Given the description of an element on the screen output the (x, y) to click on. 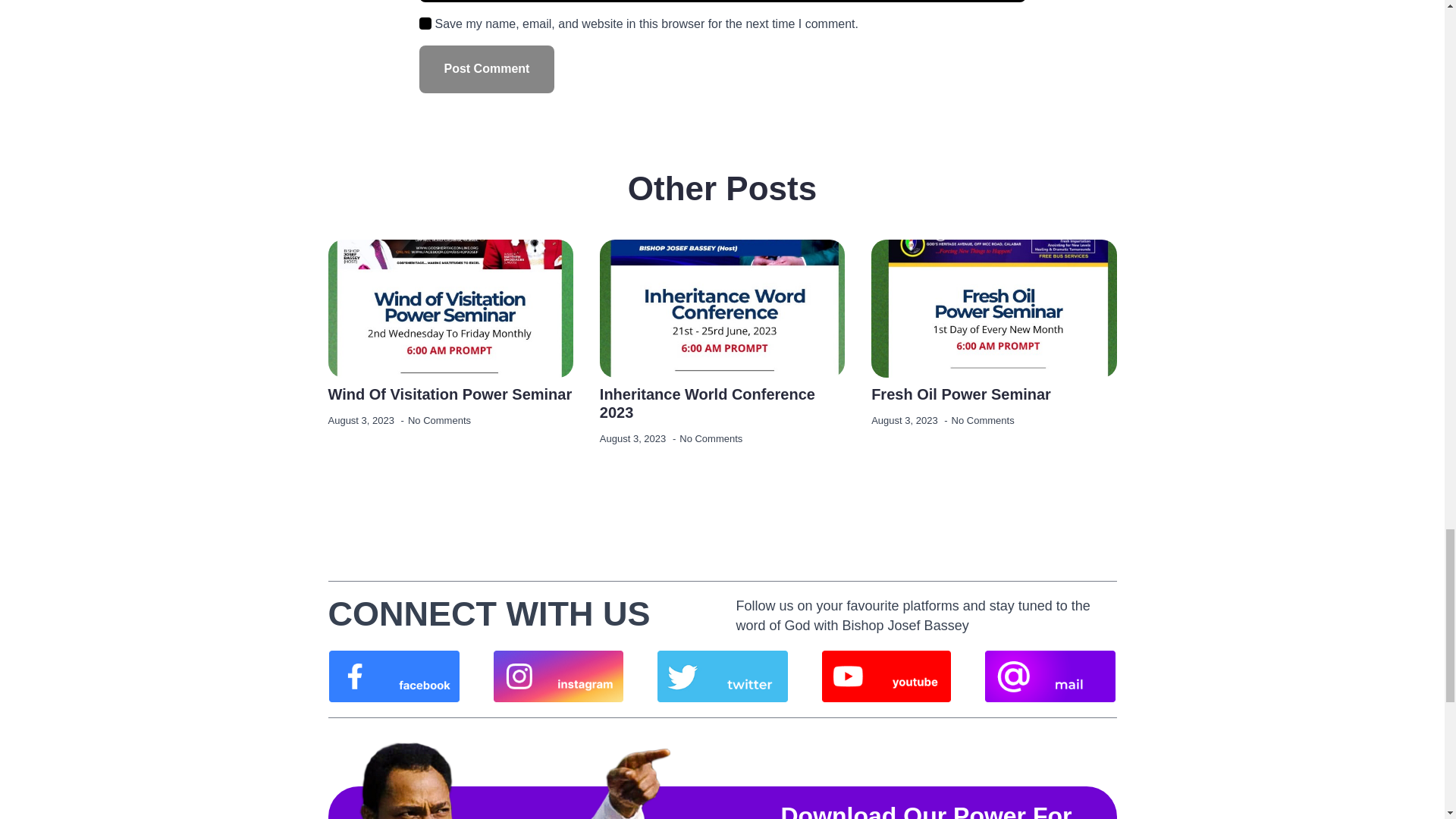
Post Comment (486, 69)
Post Comment (486, 69)
Inheritance World Conference 2023 (721, 402)
Wind Of Visitation Power Seminar (449, 393)
Fresh Oil Power Seminar (960, 393)
yes (424, 23)
